Given the description of an element on the screen output the (x, y) to click on. 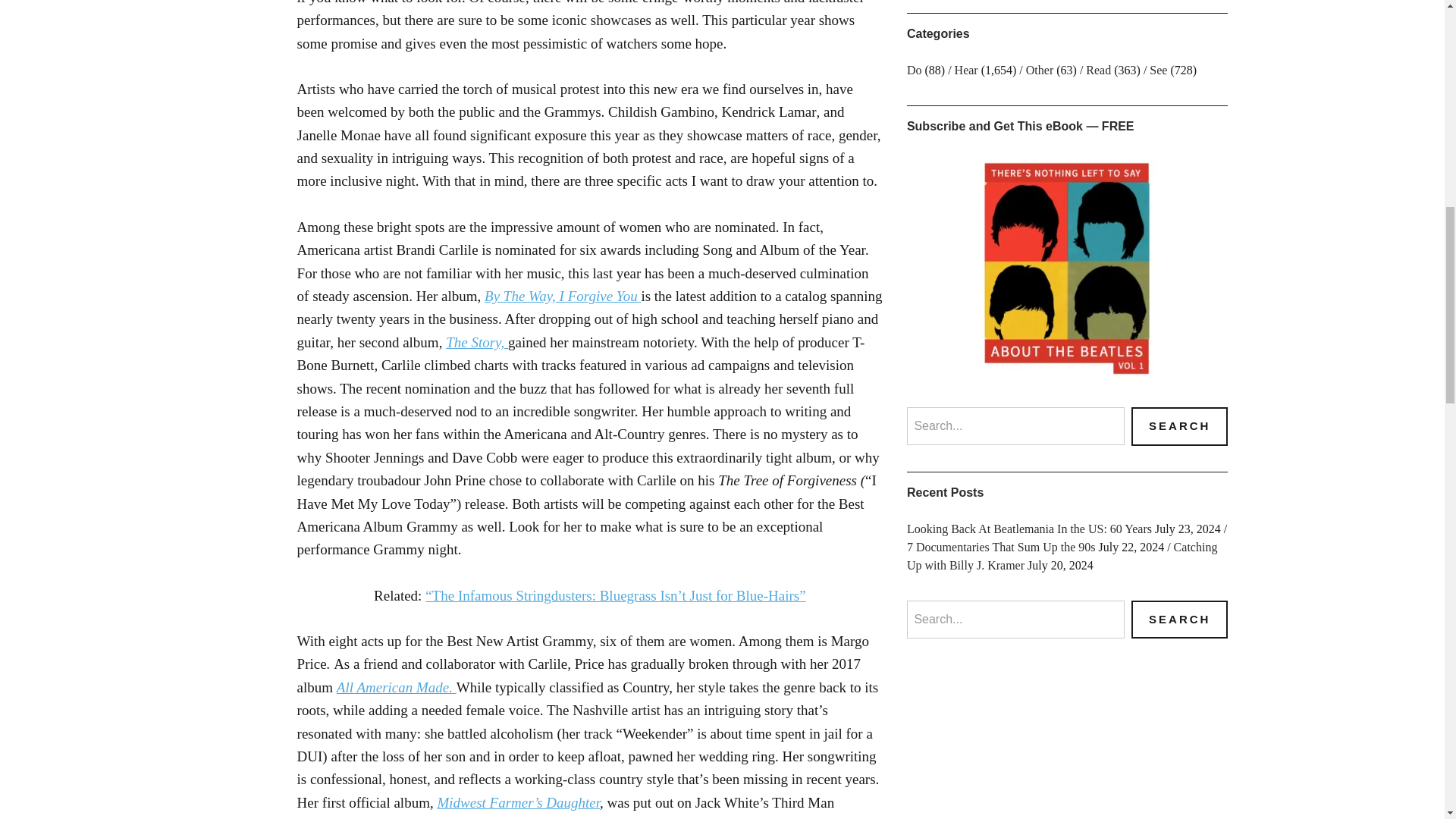
Search (1179, 426)
Search (1179, 619)
